Given the description of an element on the screen output the (x, y) to click on. 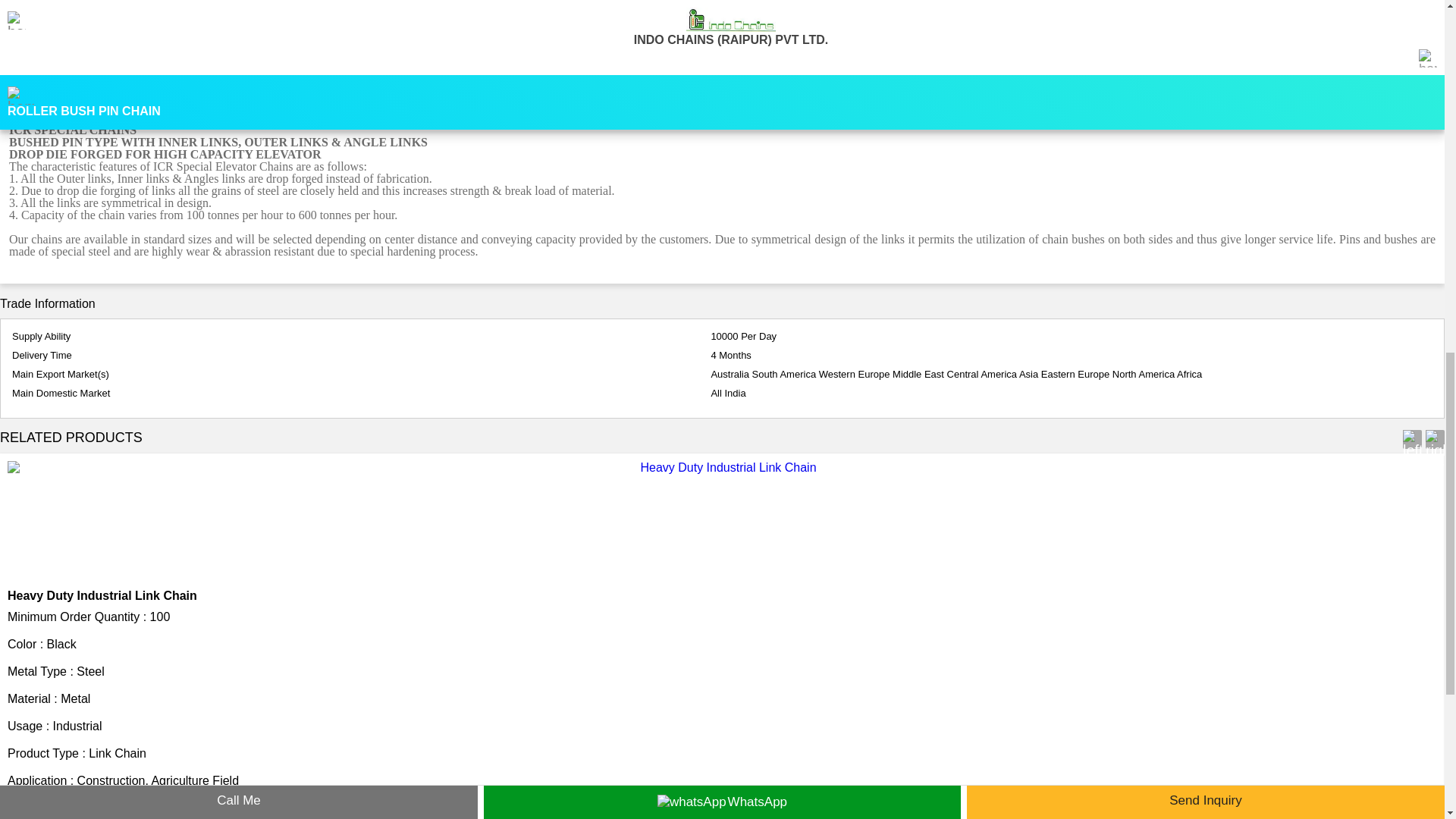
Send Inquiry (43, 811)
Heavy Duty Industrial Link Chain (101, 594)
